Given the description of an element on the screen output the (x, y) to click on. 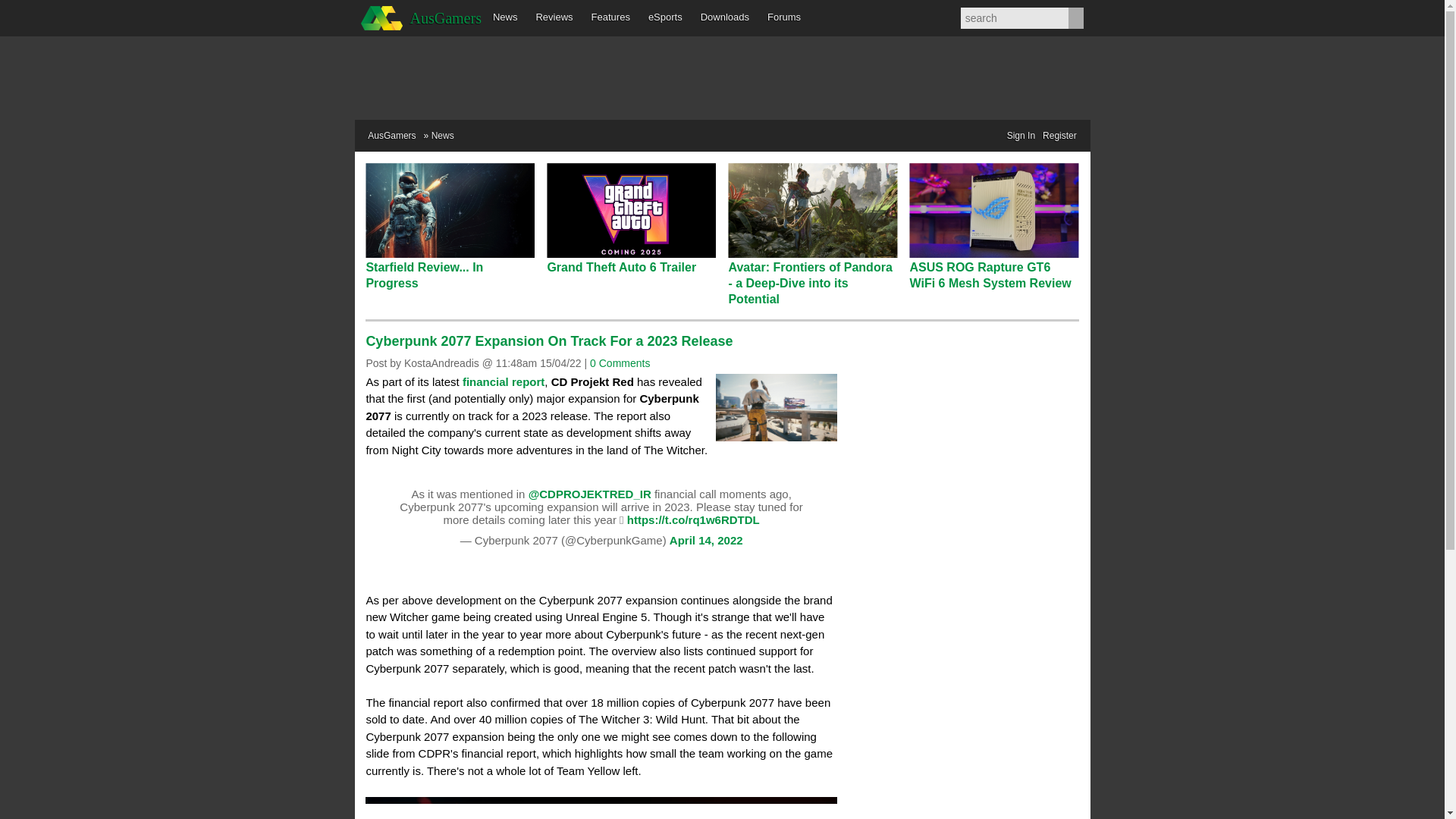
Cyberpunk 2077 Expansion On Track For a 2023 Release (548, 340)
0 Comments (619, 363)
AusGamers (419, 18)
Grand Theft Auto 6 Trailer (621, 267)
News (442, 135)
Register (1059, 135)
eSports (665, 18)
Features (610, 18)
News (505, 18)
Forums (783, 18)
AusGamers (391, 135)
April 14, 2022 (705, 540)
financial report (503, 381)
Reviews (552, 18)
